Given the description of an element on the screen output the (x, y) to click on. 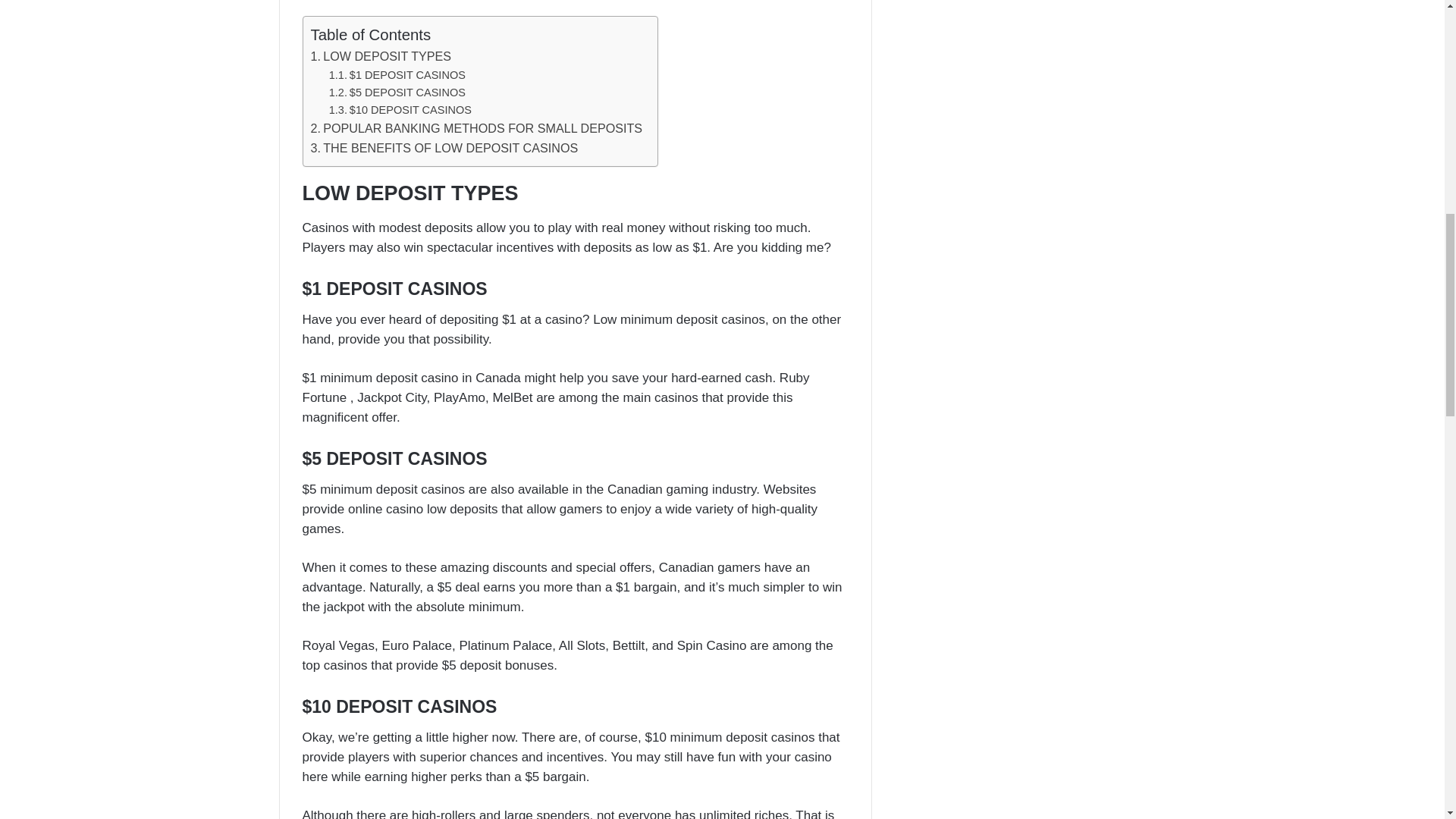
POPULAR BANKING METHODS FOR SMALL DEPOSITS (477, 128)
THE BENEFITS OF LOW DEPOSIT CASINOS (444, 148)
LOW DEPOSIT TYPES (381, 56)
LOW DEPOSIT TYPES (381, 56)
THE BENEFITS OF LOW DEPOSIT CASINOS (444, 148)
POPULAR BANKING METHODS FOR SMALL DEPOSITS (477, 128)
